Given the description of an element on the screen output the (x, y) to click on. 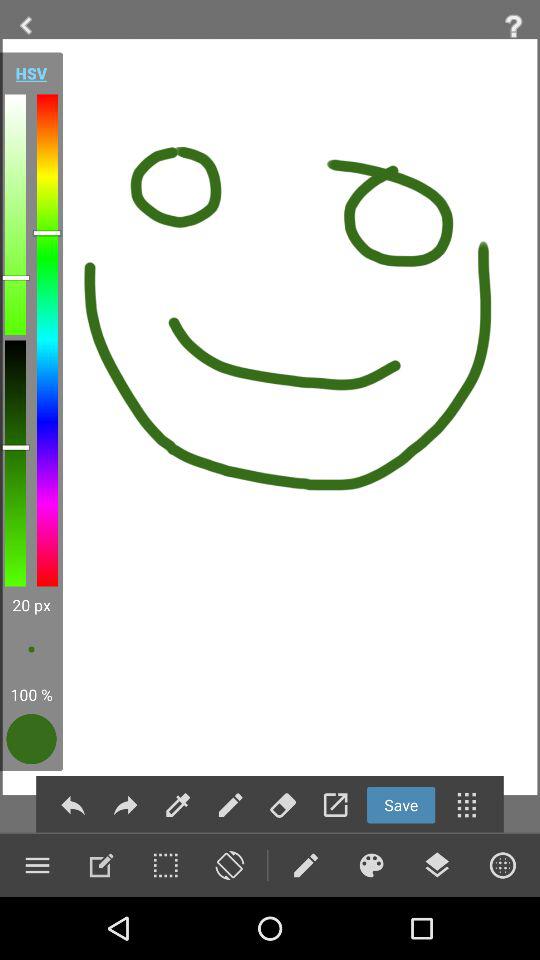
more (502, 865)
